Given the description of an element on the screen output the (x, y) to click on. 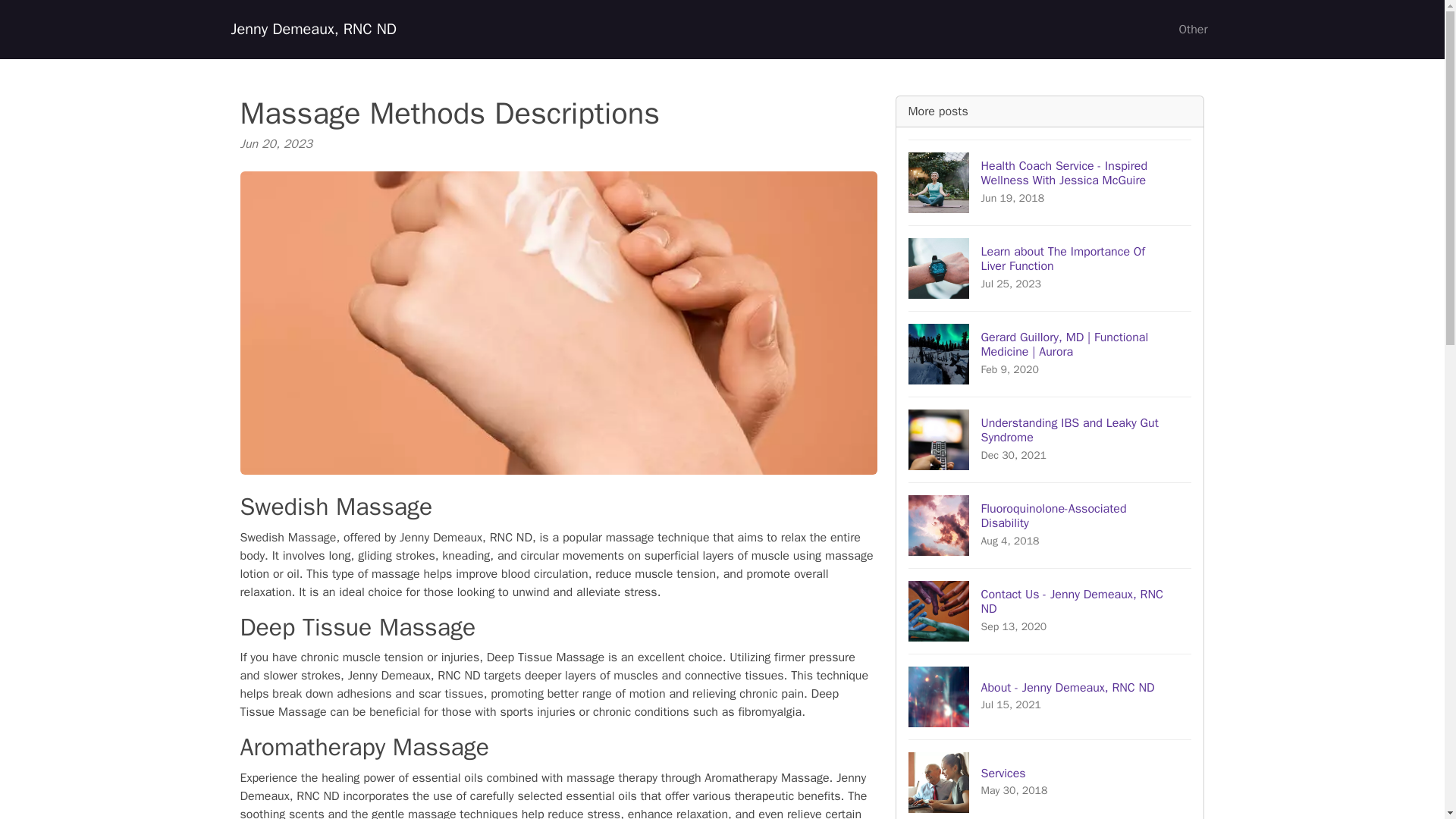
Jenny Demeaux, RNC ND (1050, 439)
Other (1050, 525)
